Given the description of an element on the screen output the (x, y) to click on. 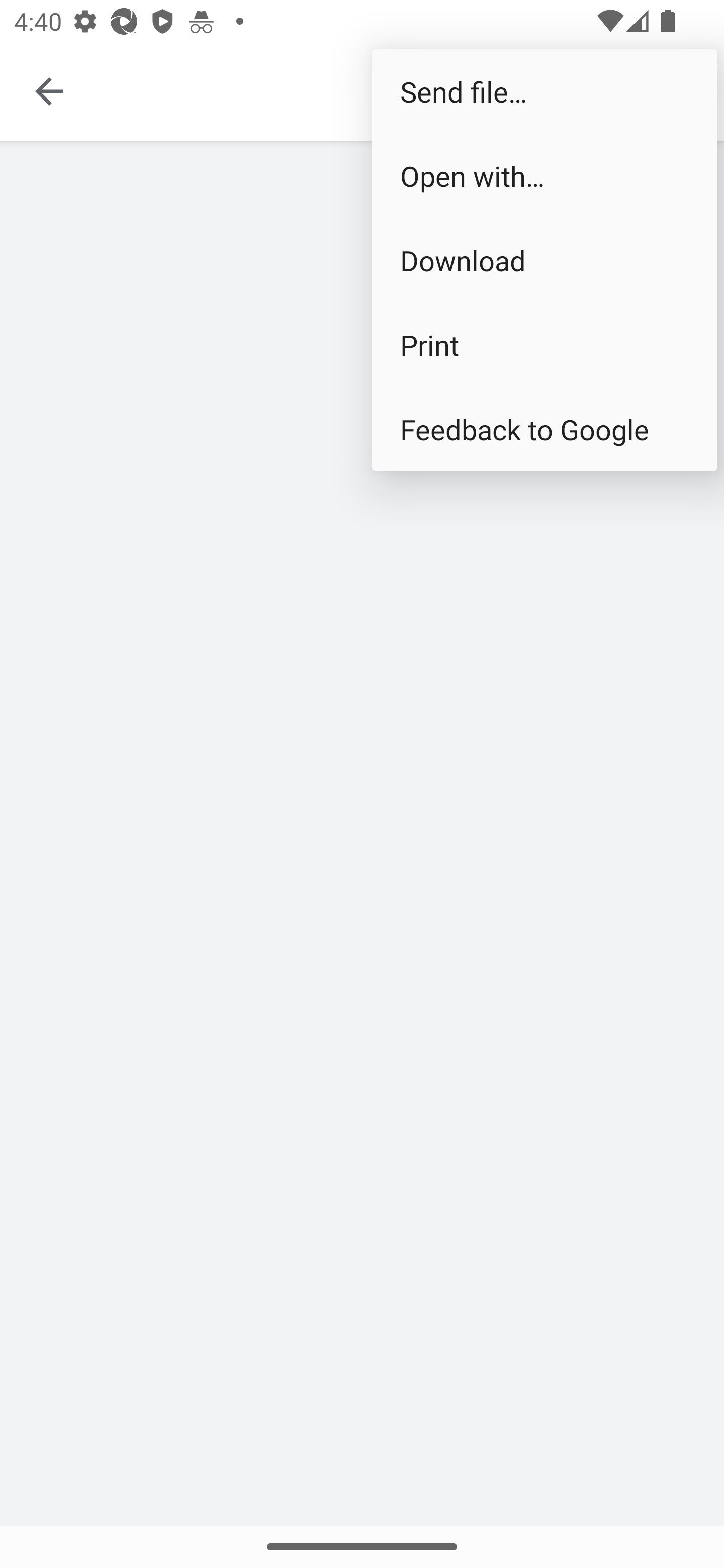
Send file… (544, 90)
Open with… (544, 175)
Download (544, 259)
Print (544, 344)
Feedback to Google (544, 429)
